Given the description of an element on the screen output the (x, y) to click on. 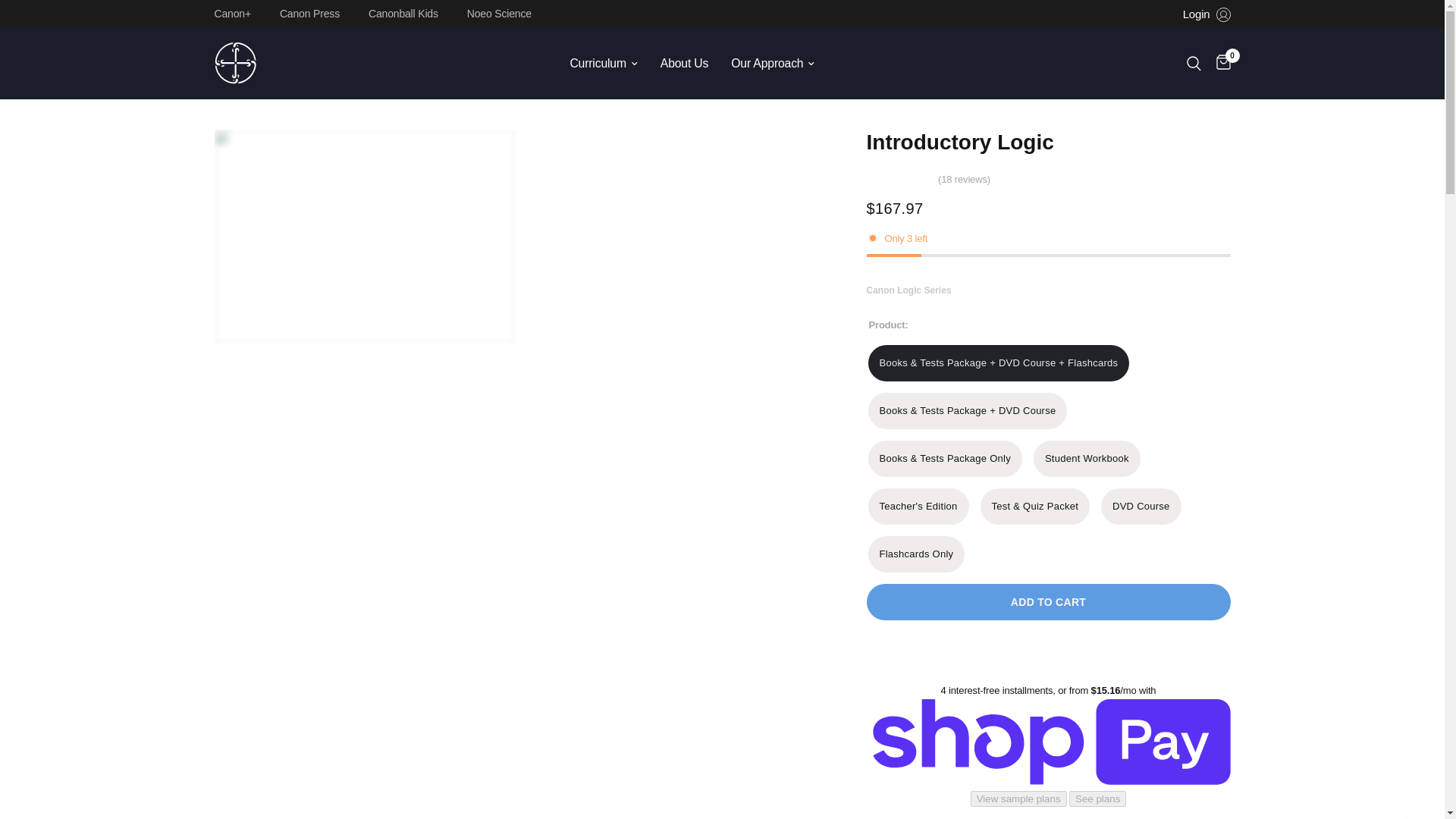
Noeo Science (502, 13)
Canon Press (313, 13)
Canonball Kids (406, 13)
Login (1206, 13)
